Given the description of an element on the screen output the (x, y) to click on. 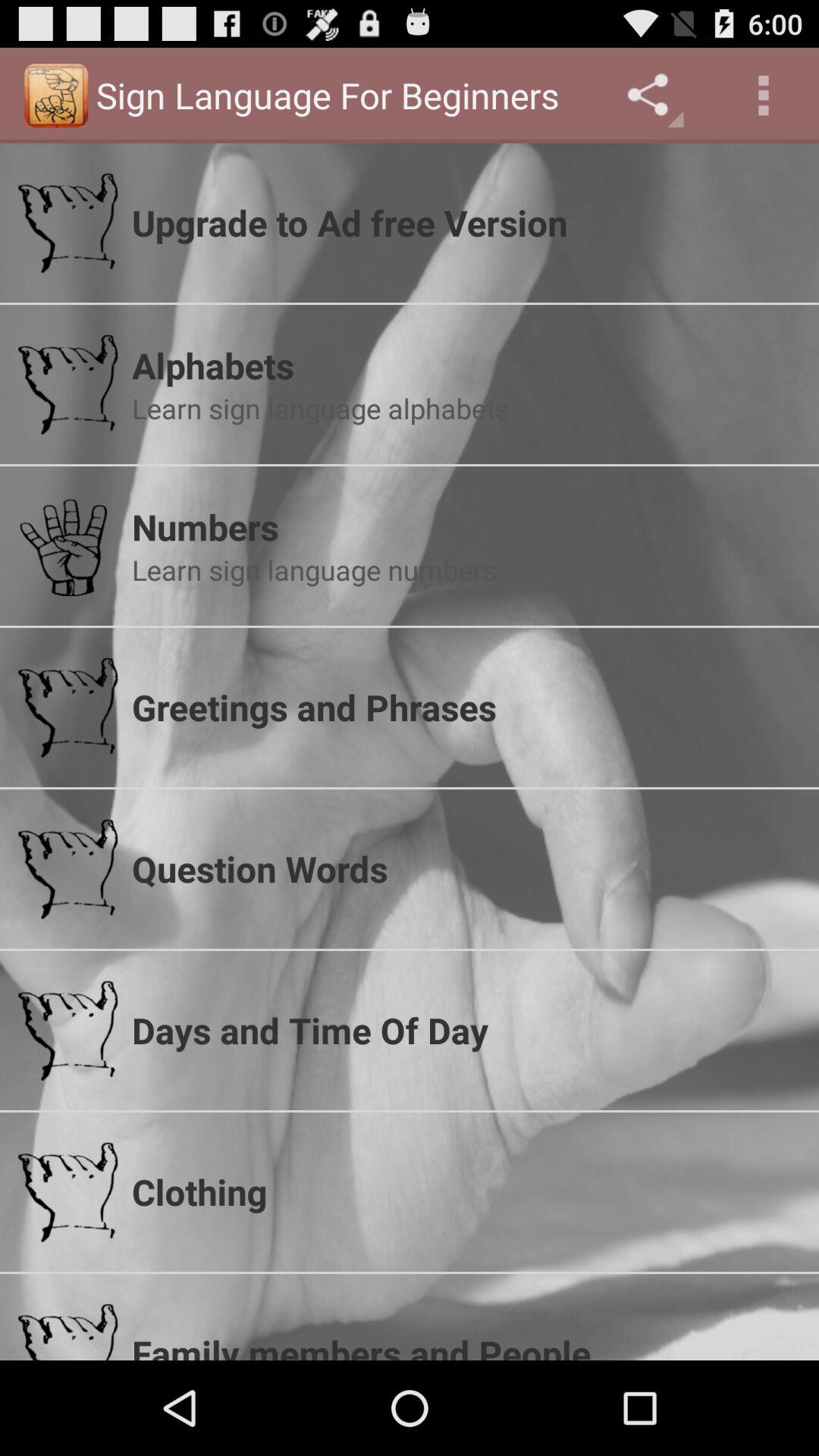
select the icon above clothing (465, 1030)
